Given the description of an element on the screen output the (x, y) to click on. 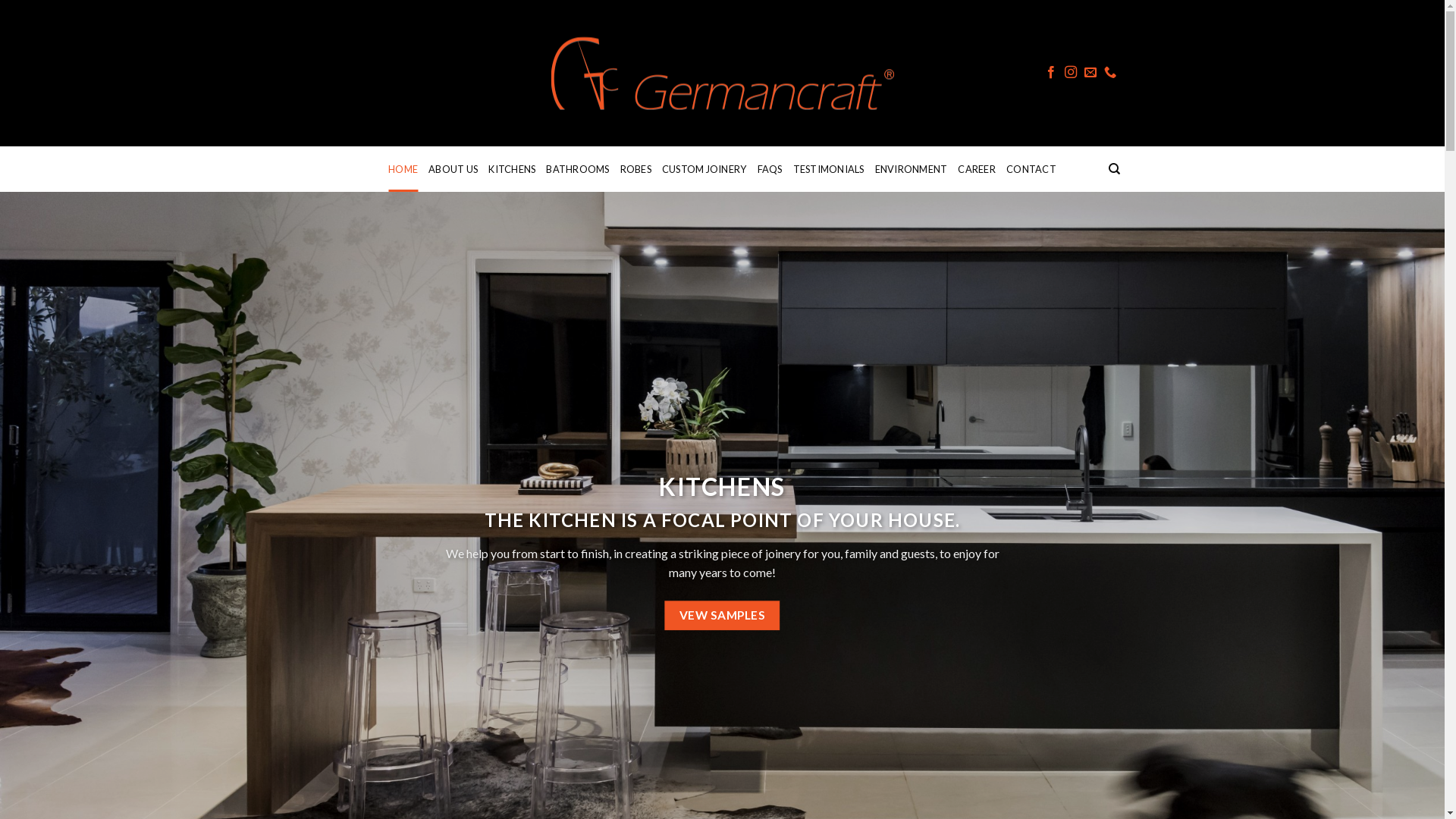
Follow on Instagram Element type: hover (1070, 72)
ENVIRONMENT Element type: text (911, 168)
ROBES Element type: text (635, 168)
BATHROOMS Element type: text (577, 168)
Follow on Facebook Element type: hover (1050, 72)
HOME Element type: text (402, 168)
Send us an email Element type: hover (1090, 72)
VEW SAMPLES Element type: text (721, 604)
ABOUT US Element type: text (452, 168)
Call us Element type: hover (1110, 72)
CAREER Element type: text (976, 168)
CUSTOM JOINERY Element type: text (704, 168)
TESTIMONIALS Element type: text (828, 168)
CONTACT Element type: text (1031, 168)
KITCHENS Element type: text (511, 168)
FAQS Element type: text (769, 168)
